Given the description of an element on the screen output the (x, y) to click on. 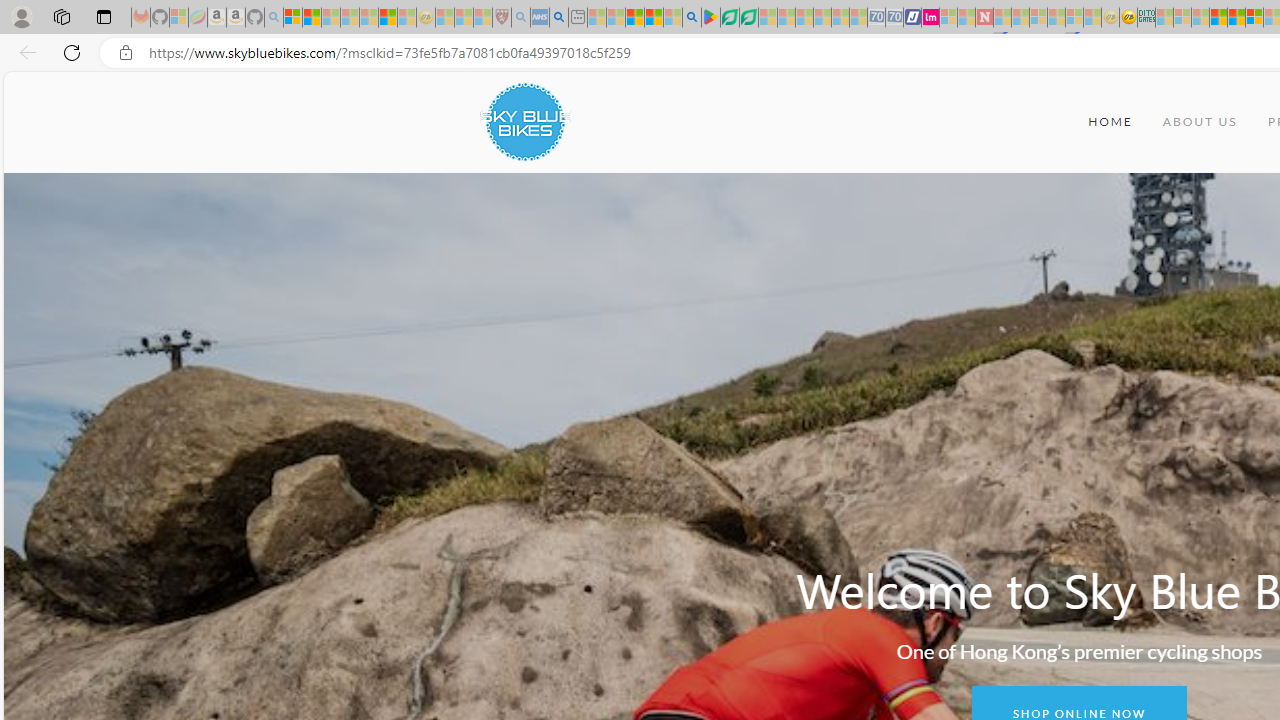
Kinda Frugal - MSN (1236, 17)
Cheap Car Rentals - Save70.com - Sleeping (875, 17)
Recipes - MSN - Sleeping (445, 17)
Microsoft Word - consumer-privacy address update 2.2021 (748, 17)
ABOUT US (1199, 122)
New tab - Sleeping (578, 17)
Bluey: Let's Play! - Apps on Google Play (710, 17)
Microsoft-Report a Concern to Bing - Sleeping (179, 17)
The Weather Channel - MSN - Sleeping (331, 17)
Robert H. Shmerling, MD - Harvard Health - Sleeping (501, 17)
